Given the description of an element on the screen output the (x, y) to click on. 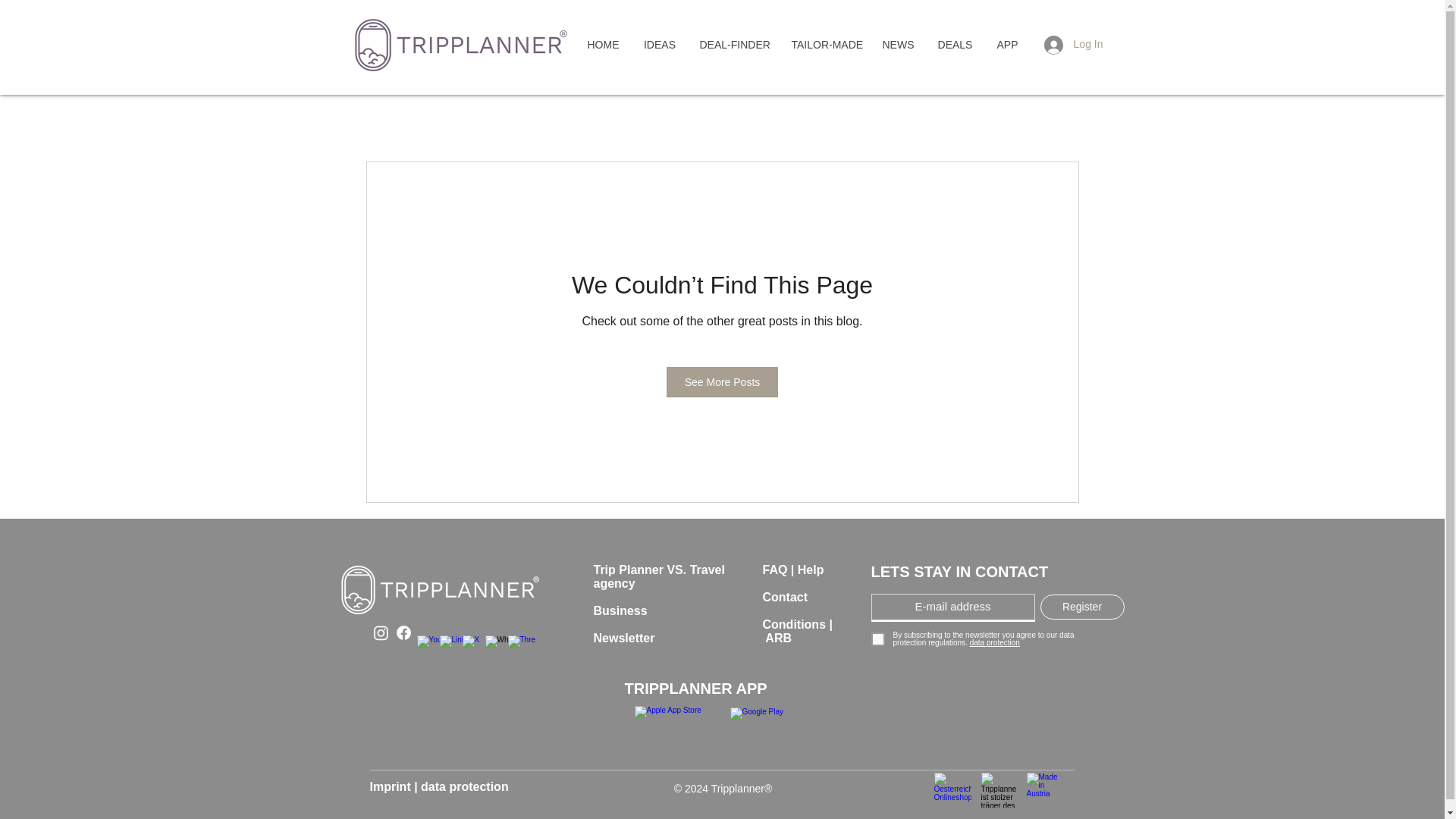
HOME (602, 45)
IDEAS (658, 45)
data protection (994, 642)
TAILOR-MADE (824, 45)
DEAL-FINDER (732, 45)
See More Posts (722, 381)
Log In (1073, 44)
Business (619, 617)
data protection (464, 786)
Register (1082, 606)
